Given the description of an element on the screen output the (x, y) to click on. 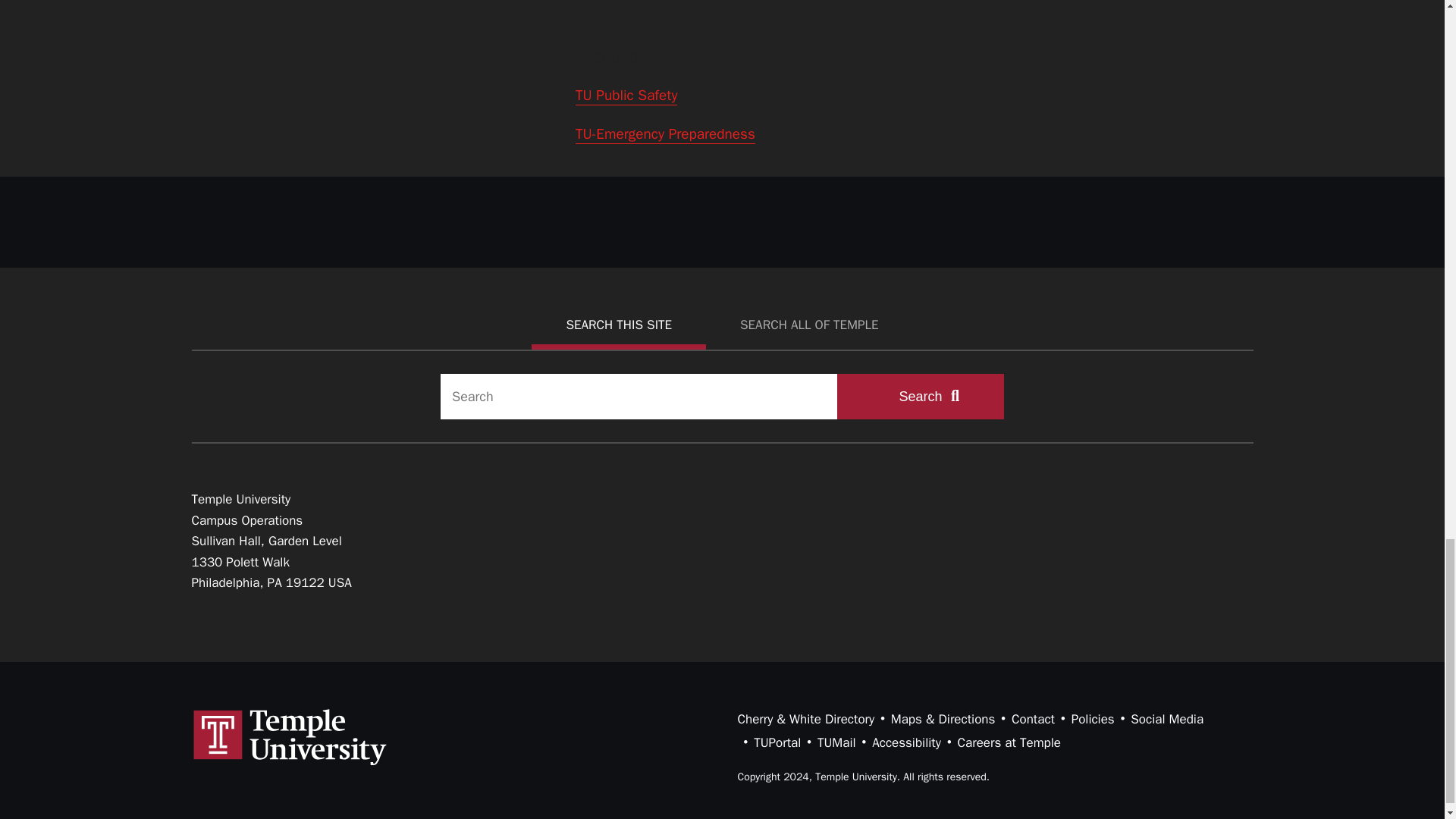
Search (920, 396)
Search (920, 396)
